Given the description of an element on the screen output the (x, y) to click on. 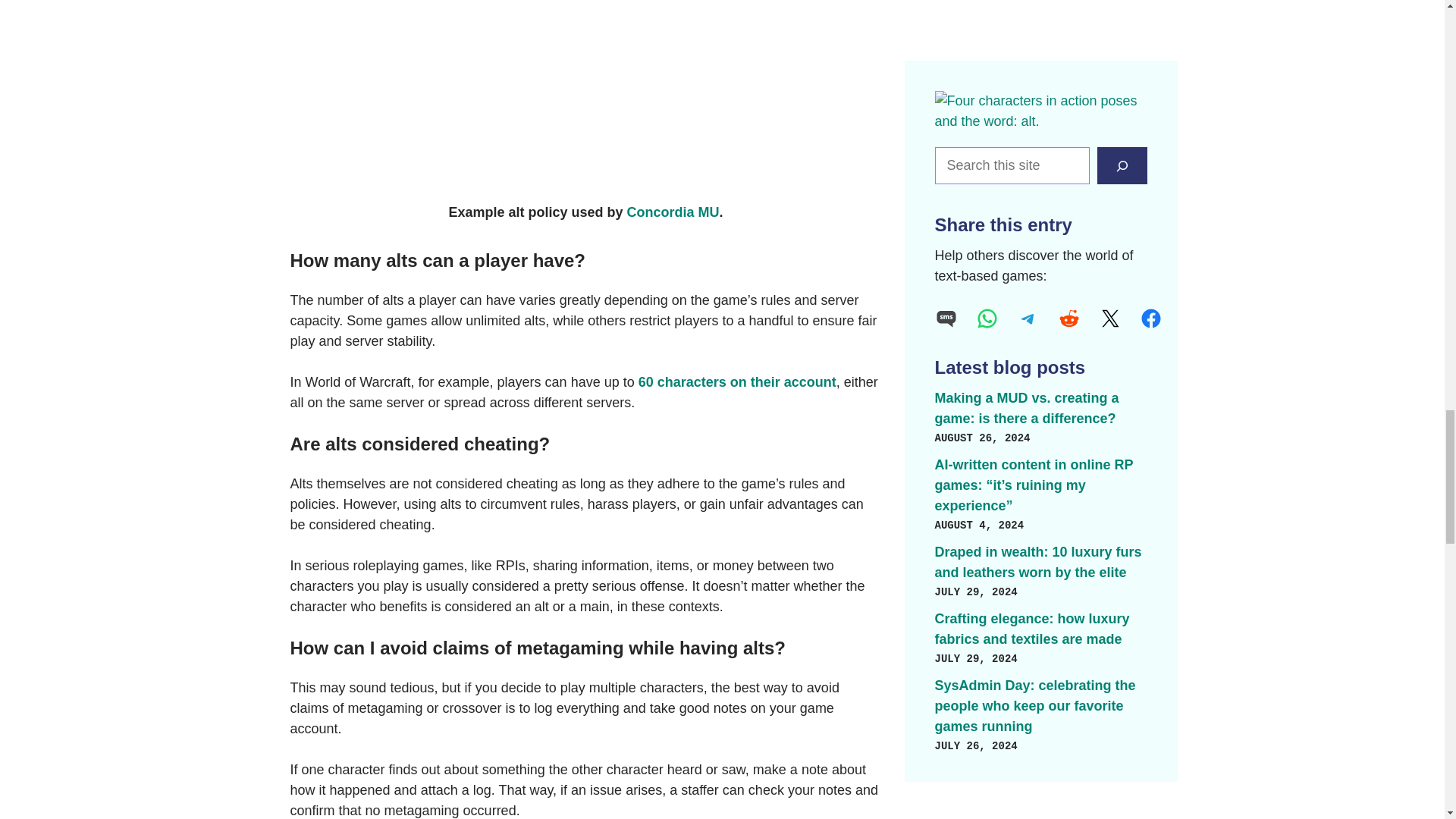
60 characters on their account (737, 381)
Concordia MU (673, 212)
Alt policy for Concordia (584, 94)
